Given the description of an element on the screen output the (x, y) to click on. 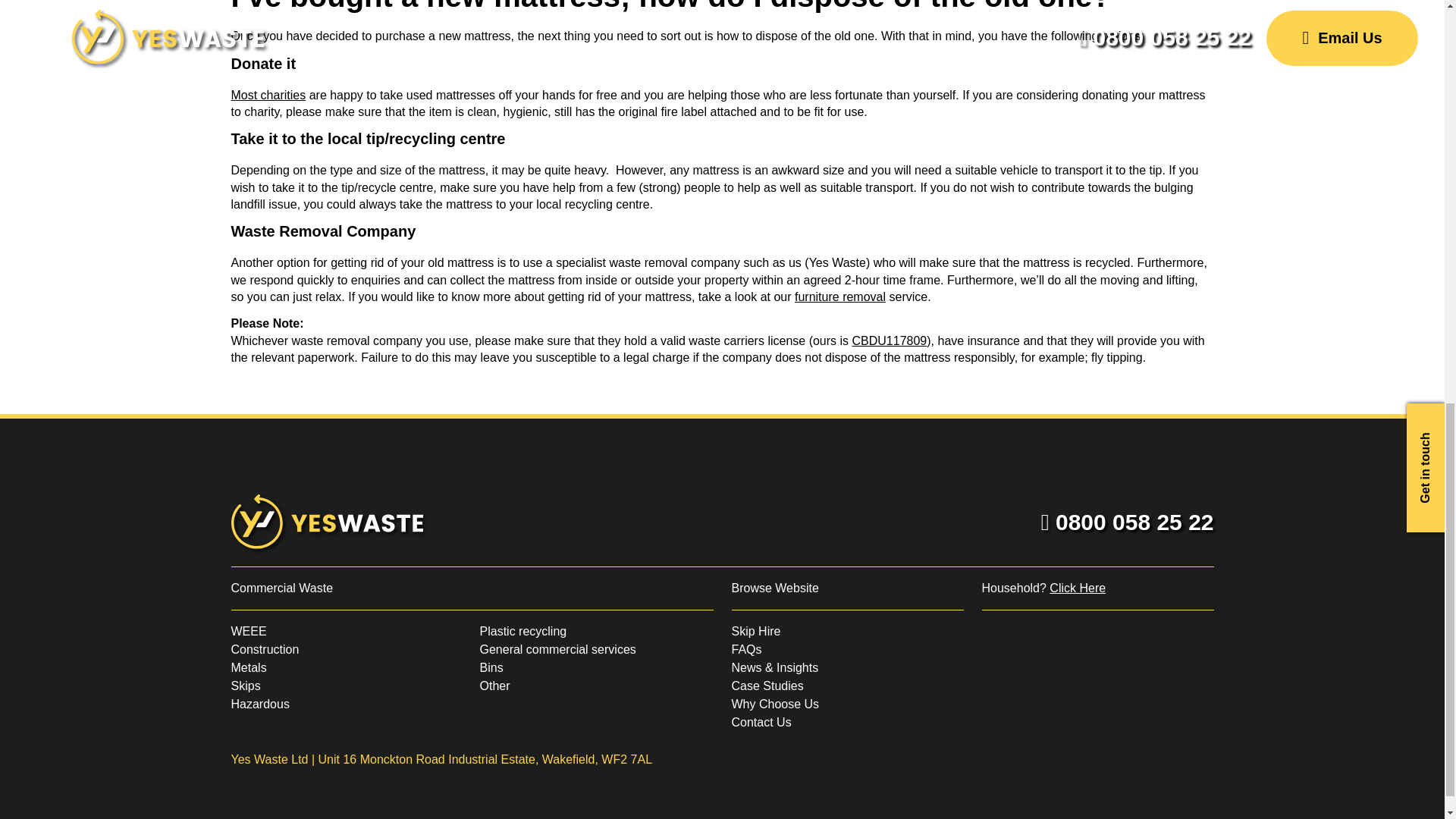
FAQs (745, 649)
Most charities (267, 94)
Charities in Yorkshire and The Humber (267, 94)
Skip Hire (755, 631)
Hazardous (259, 703)
Other (494, 685)
Skips (245, 685)
Metals (248, 667)
General commercial services (556, 649)
0800 058 25 22 (1127, 521)
